Given the description of an element on the screen output the (x, y) to click on. 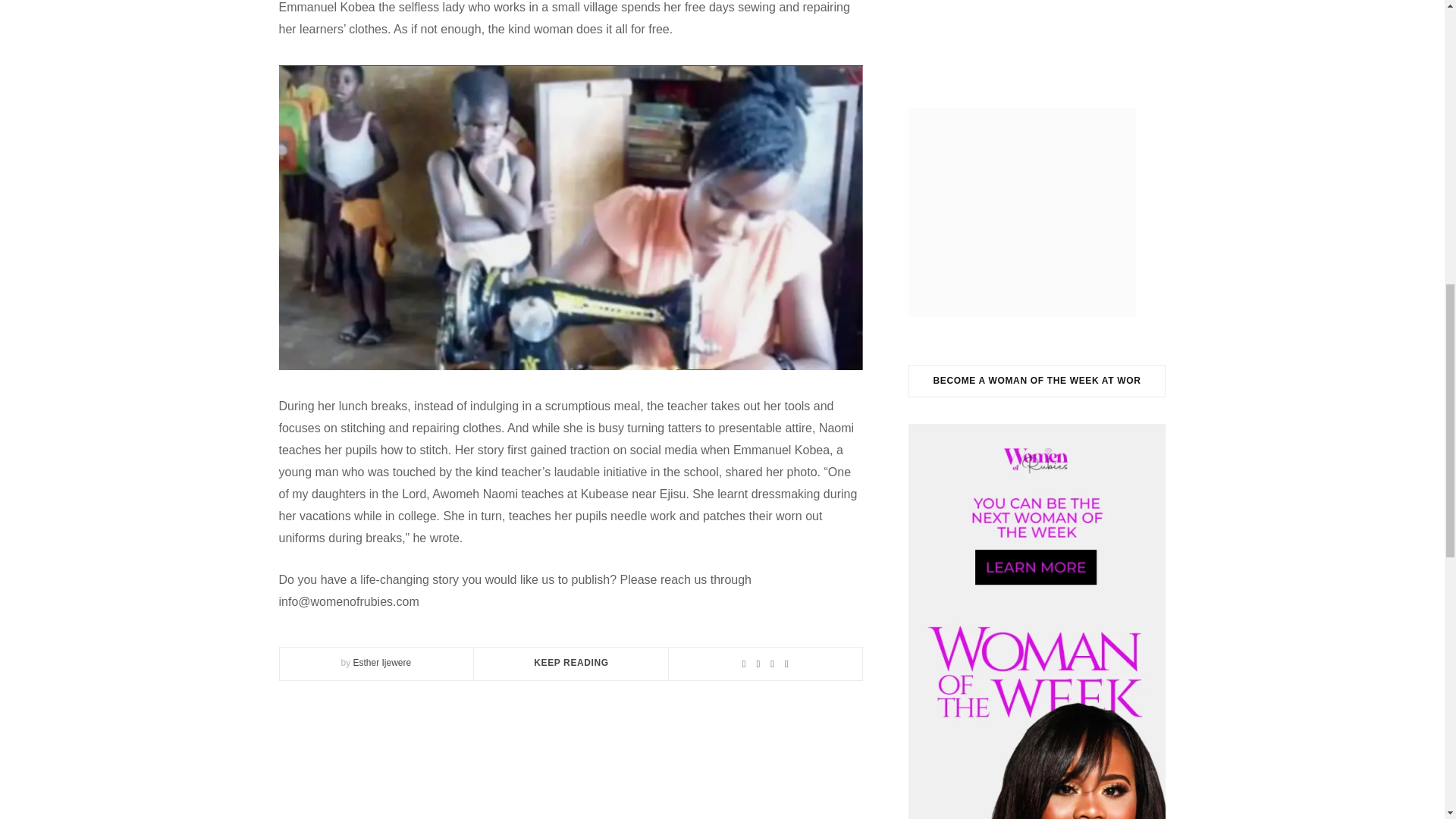
KEEP READING (571, 662)
Advertisement (1059, 29)
Posts by Esther Ijewere (381, 662)
Esther Ijewere (381, 662)
